Given the description of an element on the screen output the (x, y) to click on. 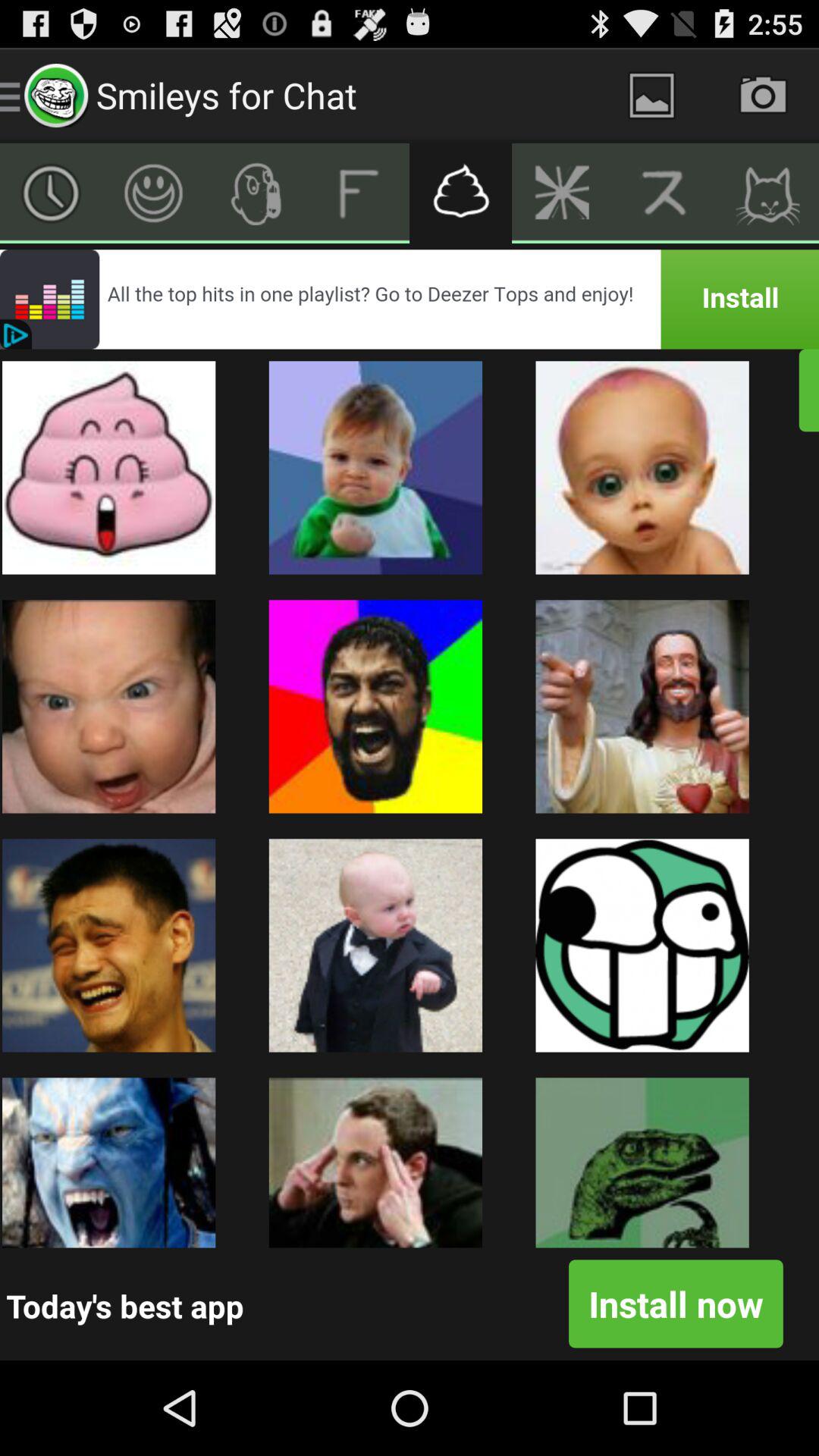
open cats (767, 193)
